Given the description of an element on the screen output the (x, y) to click on. 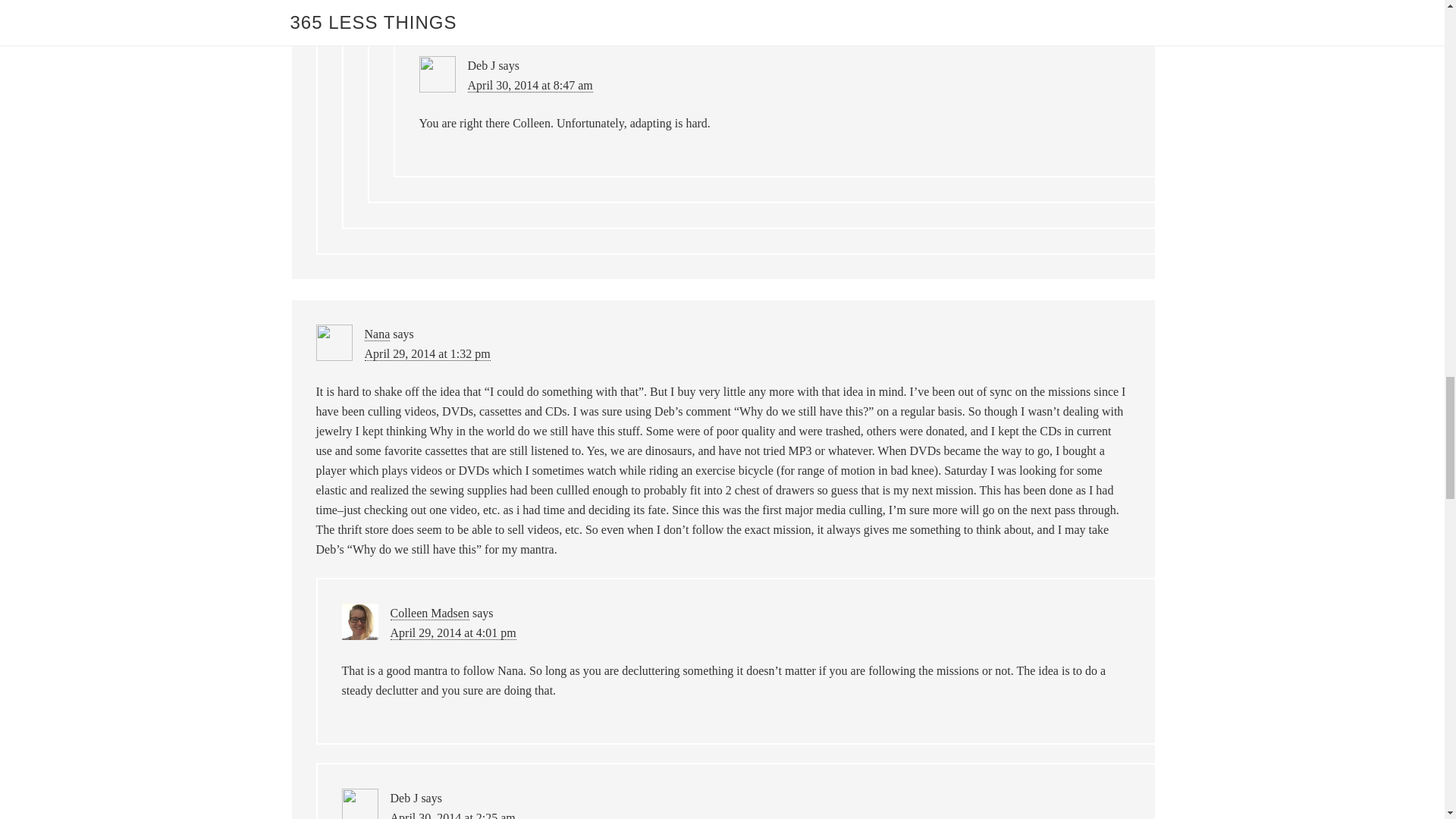
April 30, 2014 at 8:47 am (529, 85)
Nana (377, 334)
Colleen Madsen (429, 612)
April 29, 2014 at 1:32 pm (426, 354)
April 29, 2014 at 4:01 pm (452, 632)
April 30, 2014 at 2:25 am (452, 815)
